Given the description of an element on the screen output the (x, y) to click on. 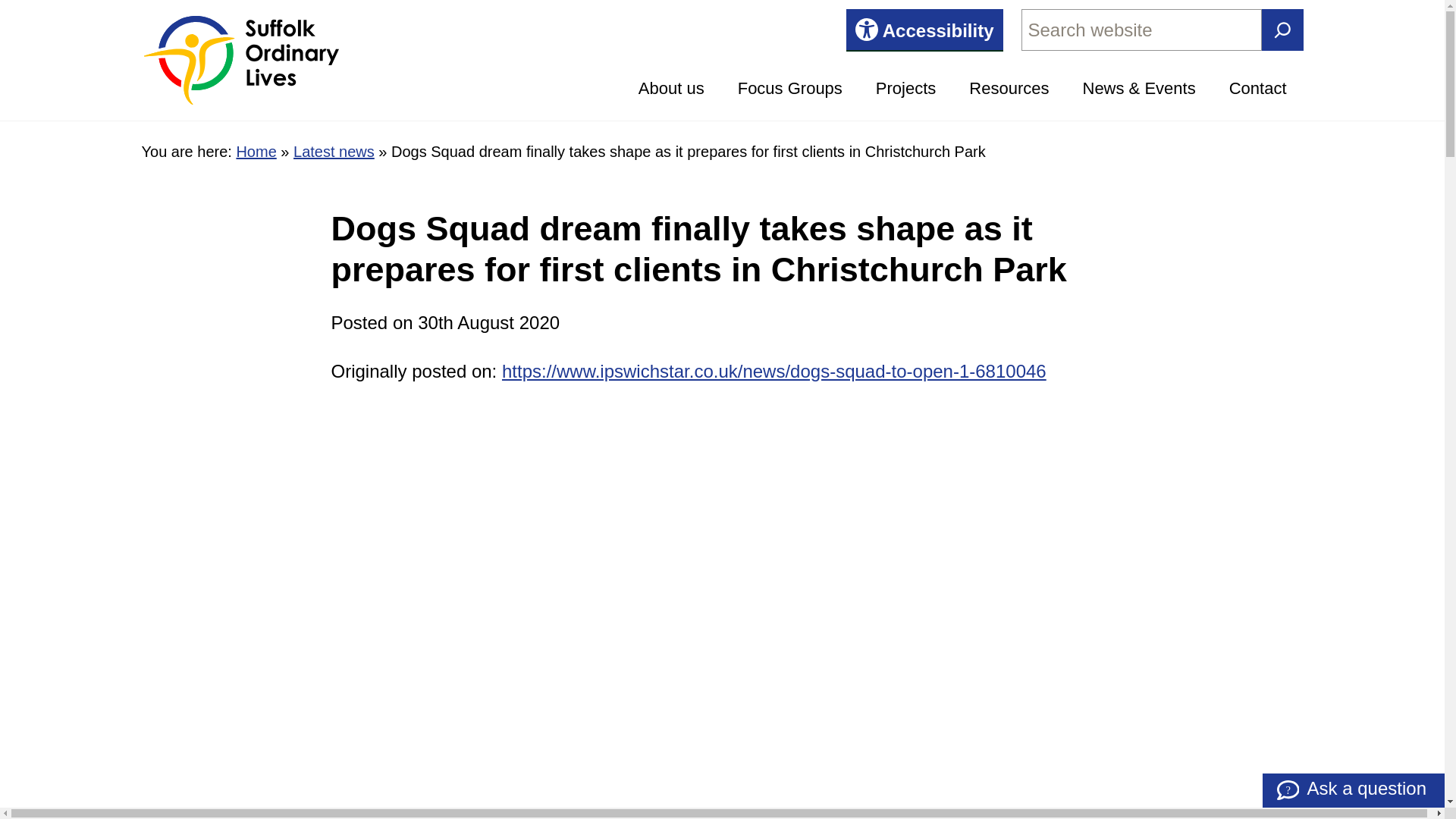
Accessibility (924, 29)
Projects (905, 89)
Resources (1008, 89)
About us (671, 89)
? (1288, 790)
Suffolk Ordinary Lives (239, 60)
Focus Groups (789, 89)
